Given the description of an element on the screen output the (x, y) to click on. 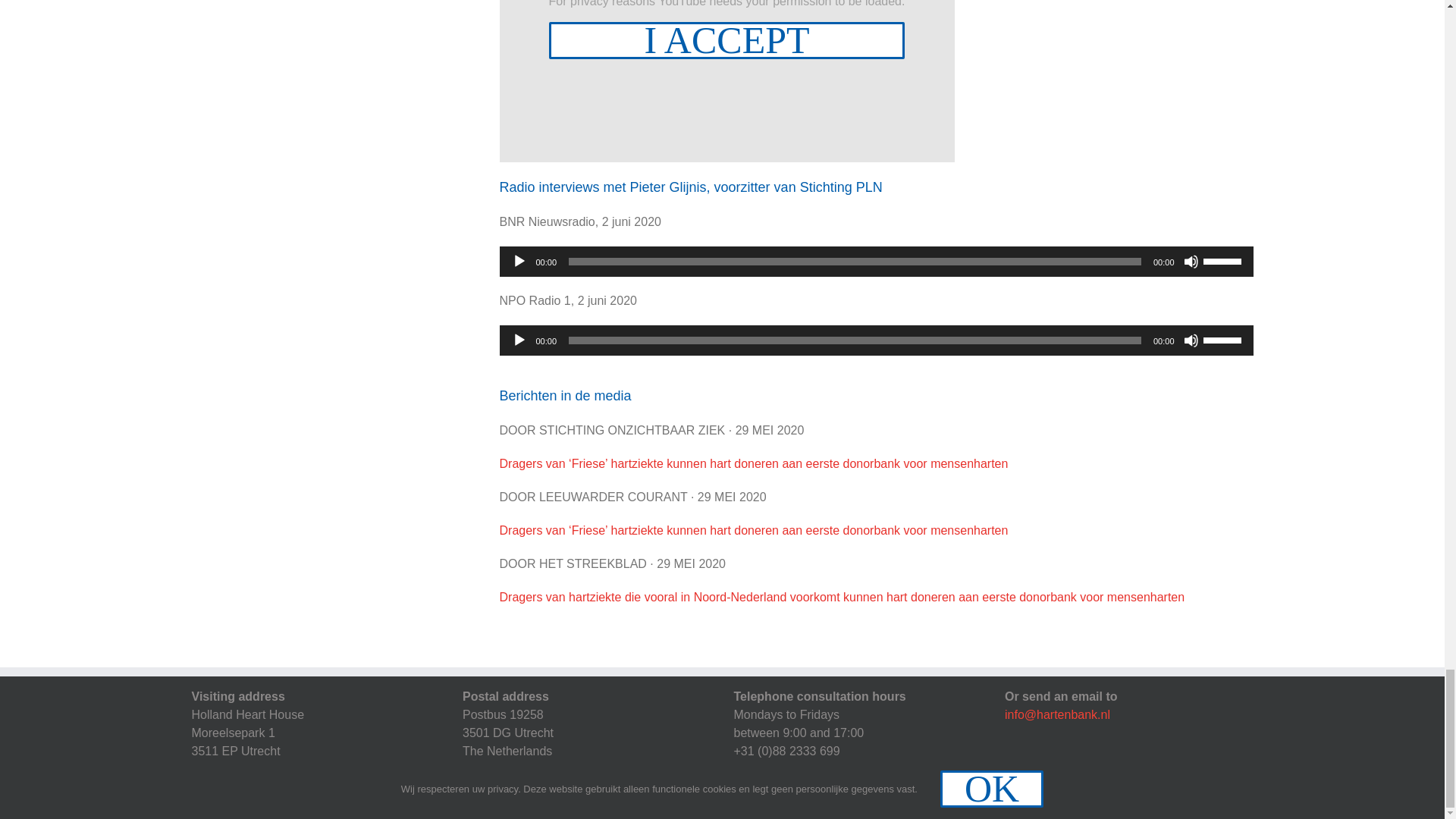
Mute (1190, 261)
Play (518, 261)
Play (518, 340)
Mute (1190, 340)
